Given the description of an element on the screen output the (x, y) to click on. 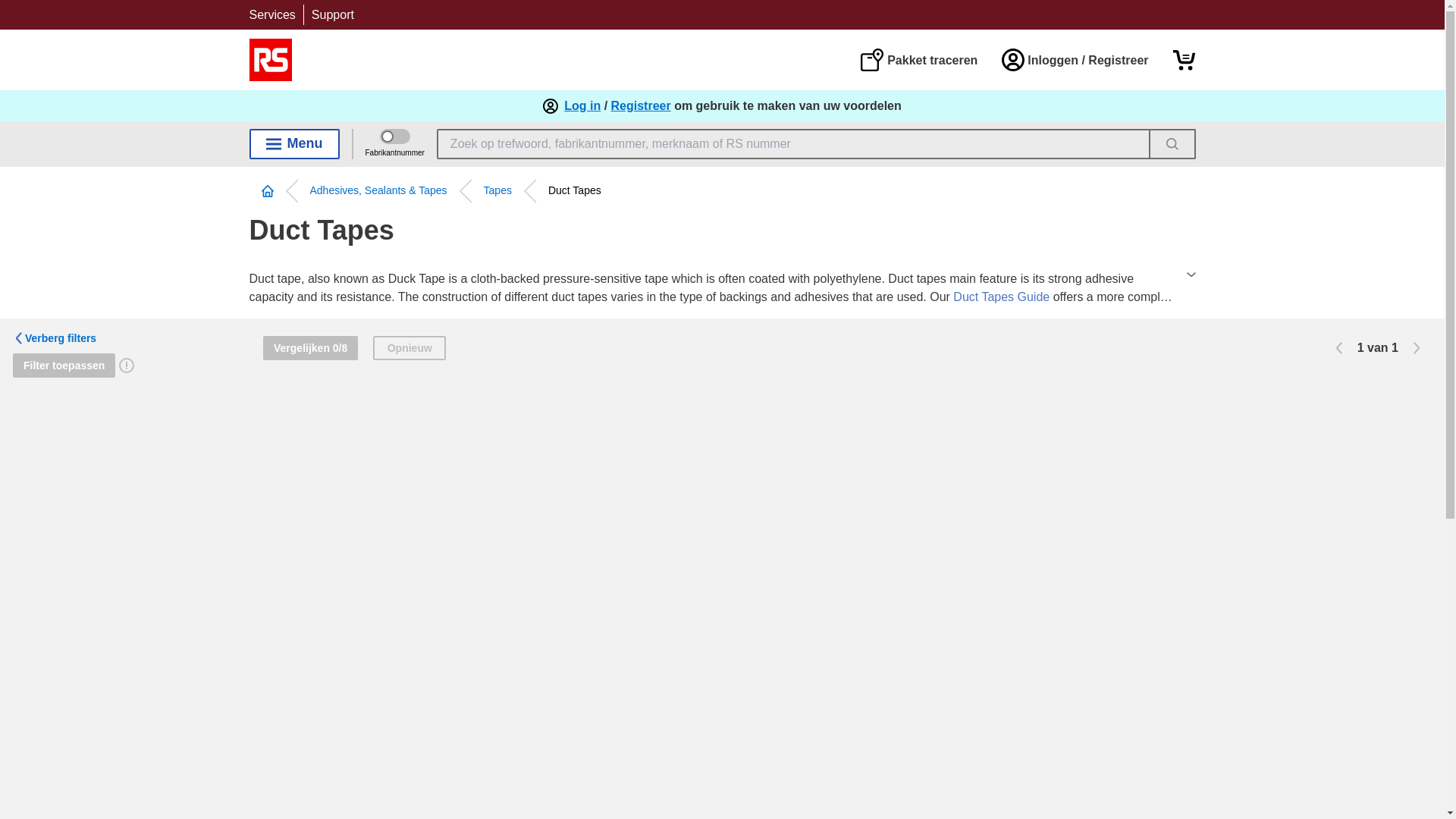
Log in (581, 105)
Pakket traceren (918, 59)
Services (271, 14)
Registreer (641, 105)
Support (332, 14)
Menu (293, 143)
